Given the description of an element on the screen output the (x, y) to click on. 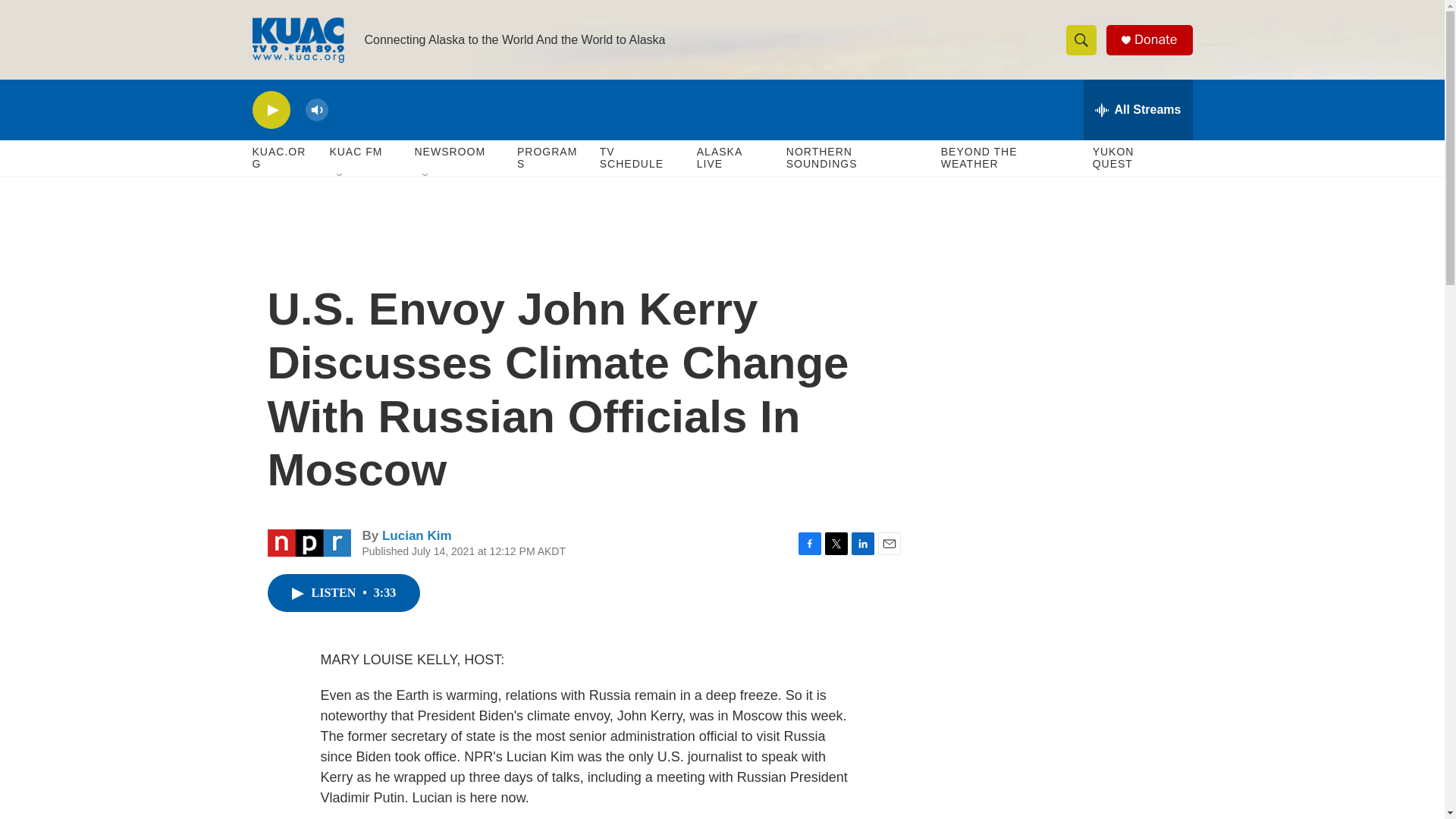
Donate (1155, 39)
Show Search (1080, 39)
All Streams (1137, 109)
KUAC.ORG (282, 157)
